Given the description of an element on the screen output the (x, y) to click on. 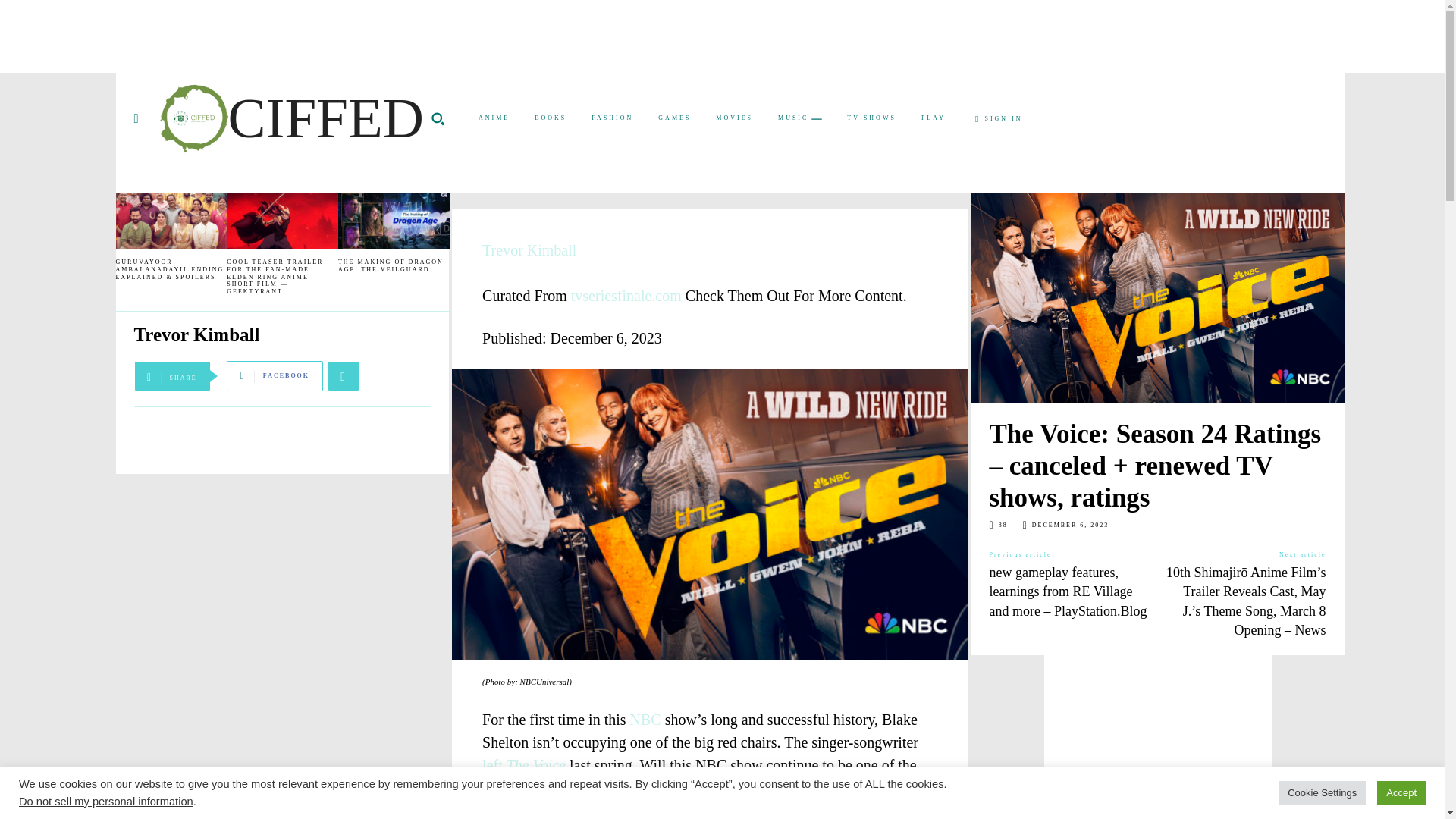
Advertisement (593, 33)
MOVIES (733, 117)
ANIME (493, 117)
CIFFED (290, 118)
FASHION (611, 117)
SIGN IN (999, 118)
GAMES (674, 117)
PLAY (933, 117)
MUSIC (799, 118)
TV SHOWS (871, 117)
BOOKS (550, 117)
The Making Of Dragon Age: The Veilguard (393, 220)
